Given the description of an element on the screen output the (x, y) to click on. 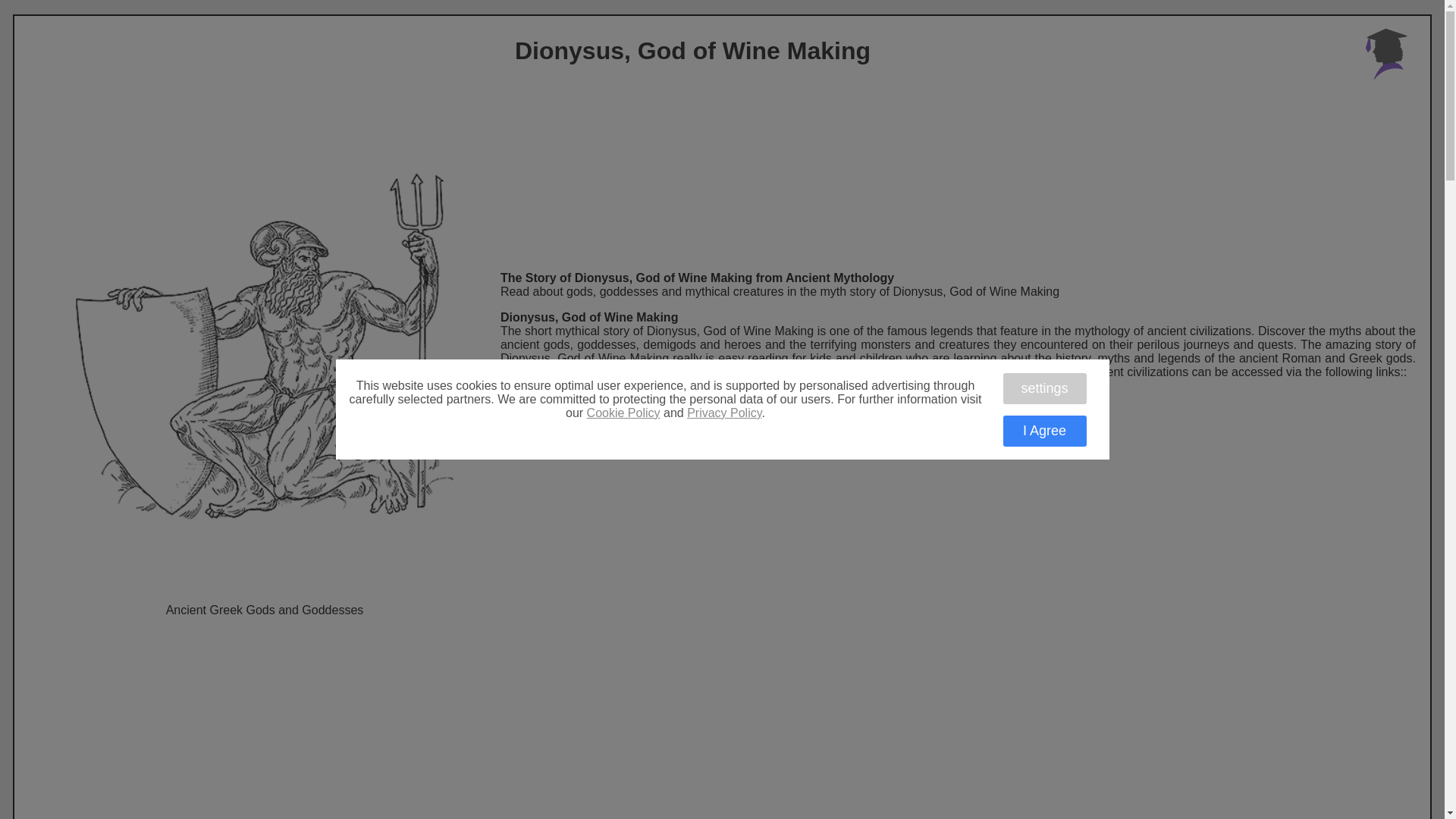
Famous Myth Stories (957, 422)
Privacy Policy (724, 412)
Dionysus (957, 449)
Cookie Policy (623, 412)
I Agree (1044, 430)
settings (1044, 388)
Gods and Deities (957, 397)
